Given the description of an element on the screen output the (x, y) to click on. 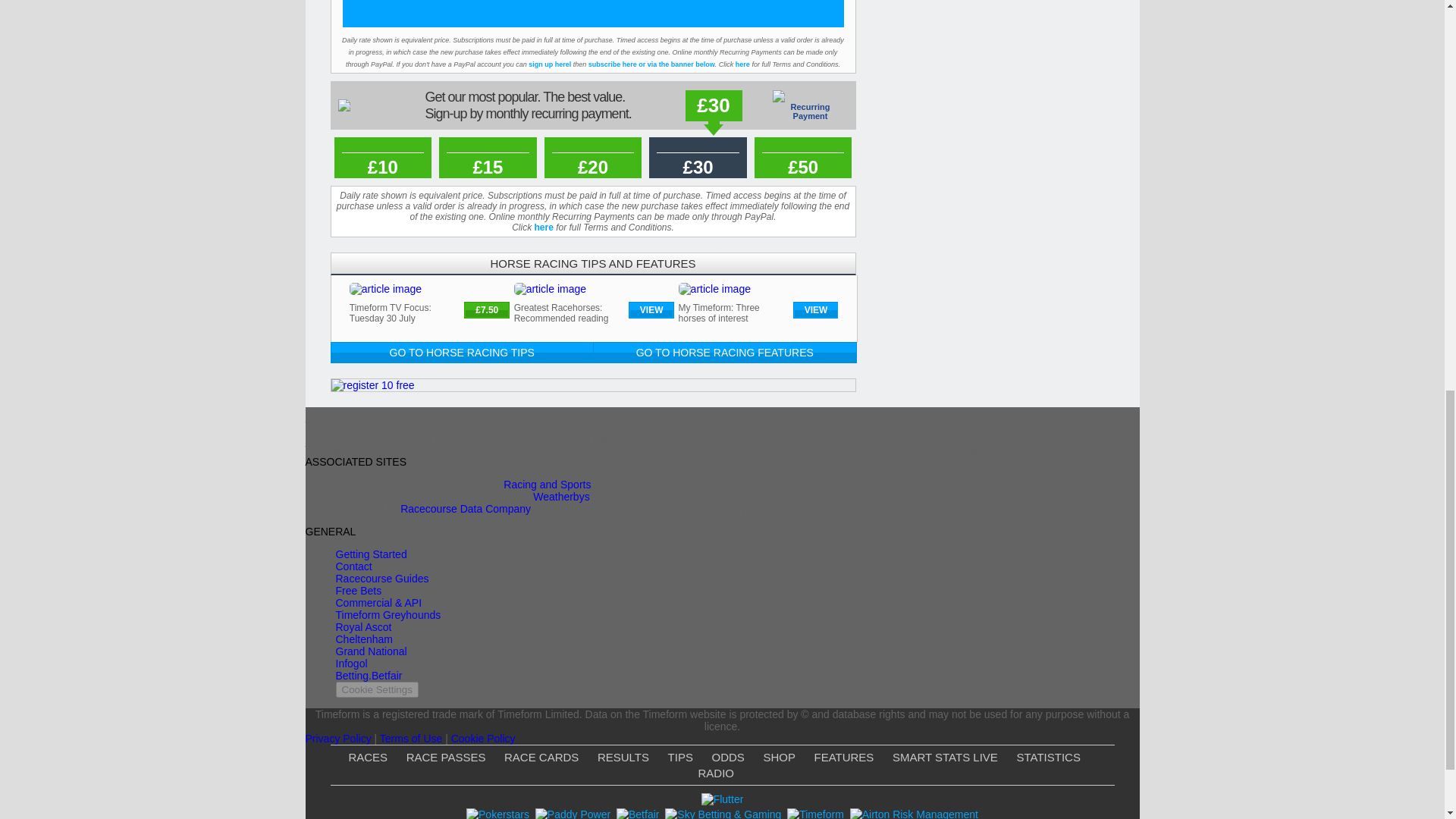
YouTube video player (592, 9)
